Given the description of an element on the screen output the (x, y) to click on. 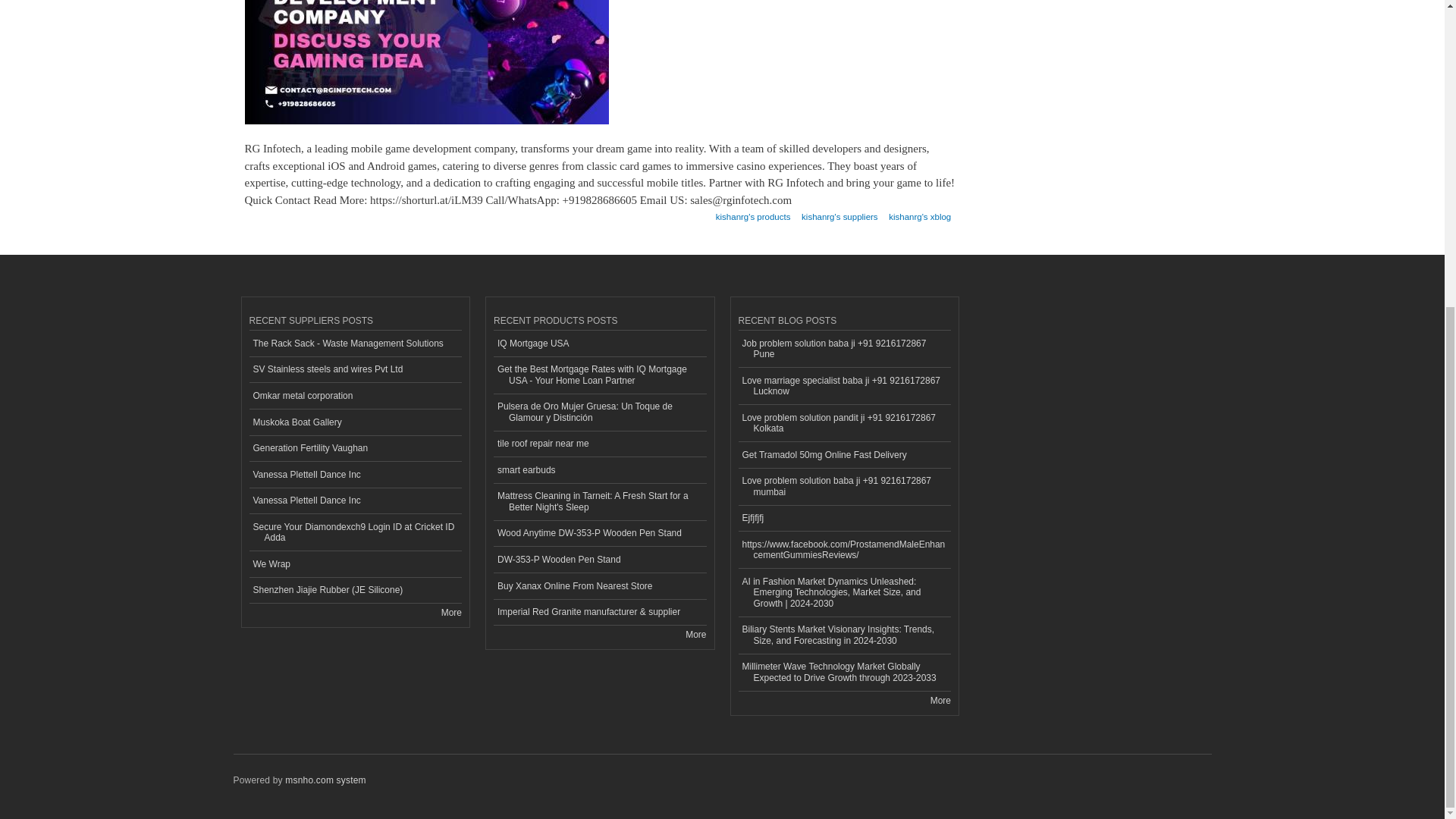
kishanrg's suppliers (839, 212)
Generation Fertility Vaughan (354, 448)
Read kishanrg's latest xblog entries. (919, 212)
kishanrg's products (753, 212)
Read the latest suppliers entries. (451, 612)
Read the latest products entries. (695, 634)
kishanrg's xblog (919, 212)
The Rack Sack - Waste Management Solutions (354, 343)
Vanessa Plettell Dance Inc (354, 474)
SV Stainless steels and wires Pvt Ltd (354, 370)
